Given the description of an element on the screen output the (x, y) to click on. 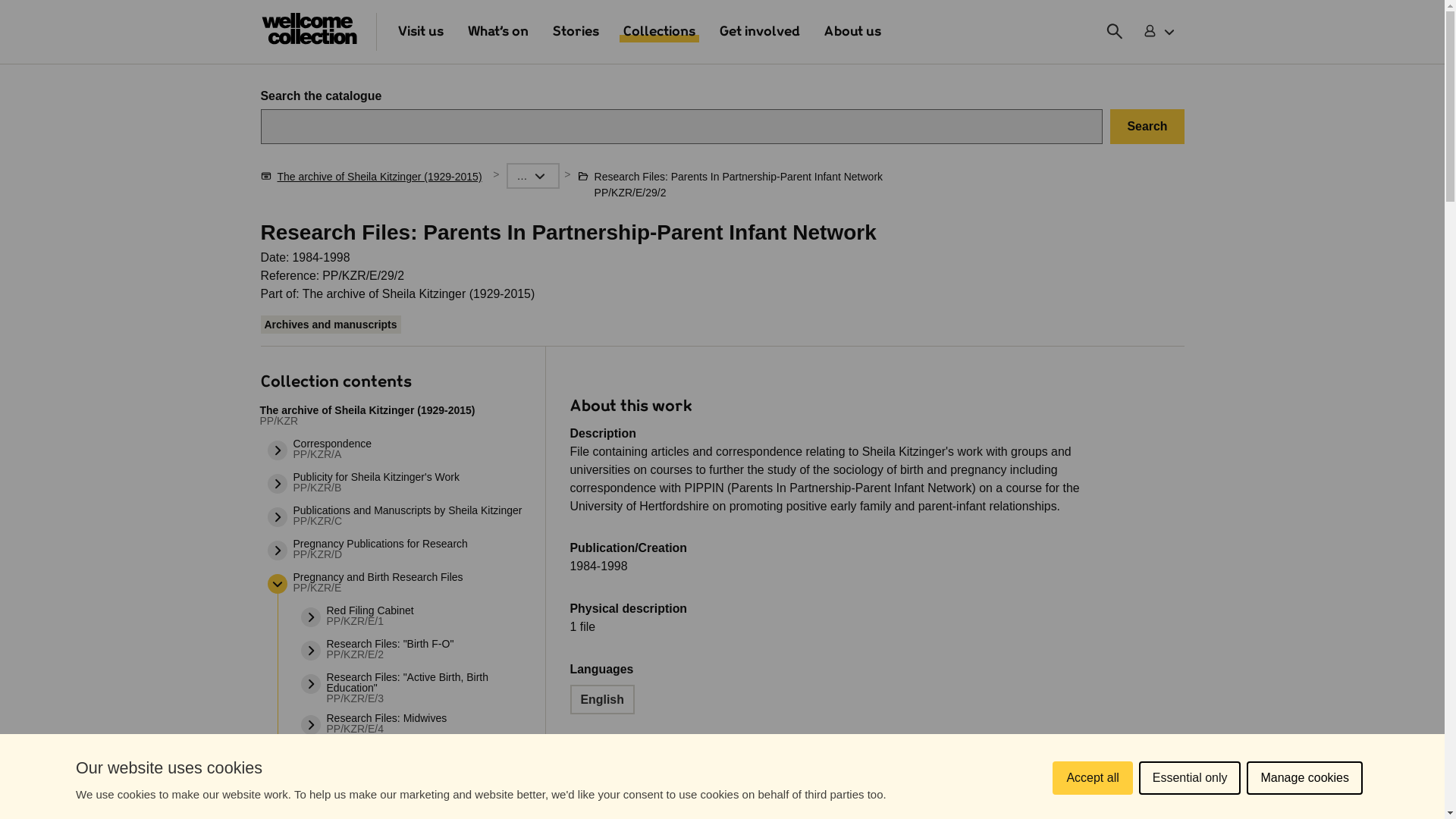
Get involved (759, 31)
About us (853, 31)
Visit us (420, 31)
Search (1146, 126)
Collections (659, 31)
Wellcome Collection homepage (309, 31)
Wellcome Collection homepage (309, 29)
Stories (575, 31)
